Given the description of an element on the screen output the (x, y) to click on. 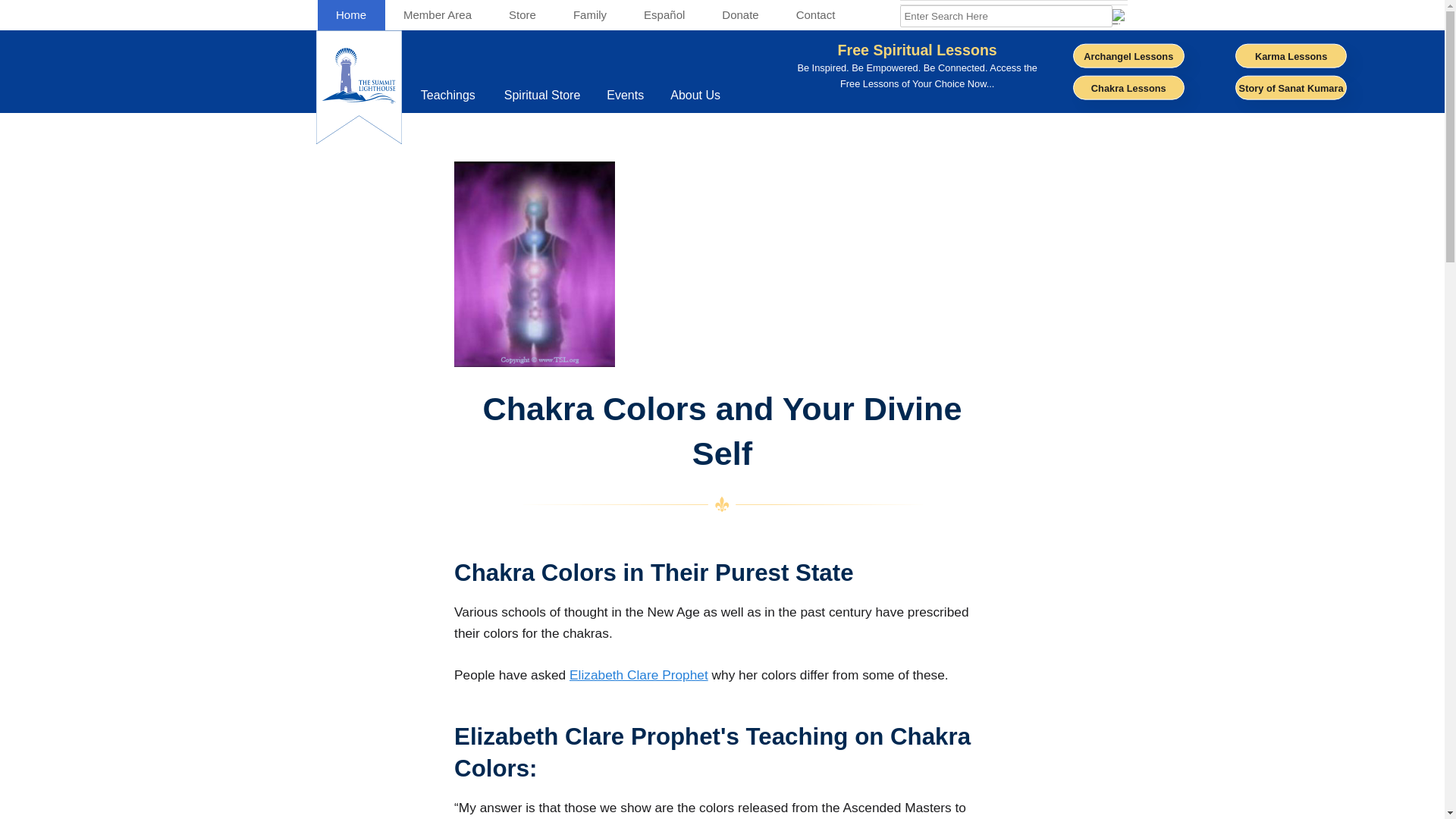
Donate (740, 15)
Member Area (437, 15)
Family (589, 15)
Store (522, 15)
Home (745, 95)
Teachings (350, 15)
Contact (448, 95)
